Given the description of an element on the screen output the (x, y) to click on. 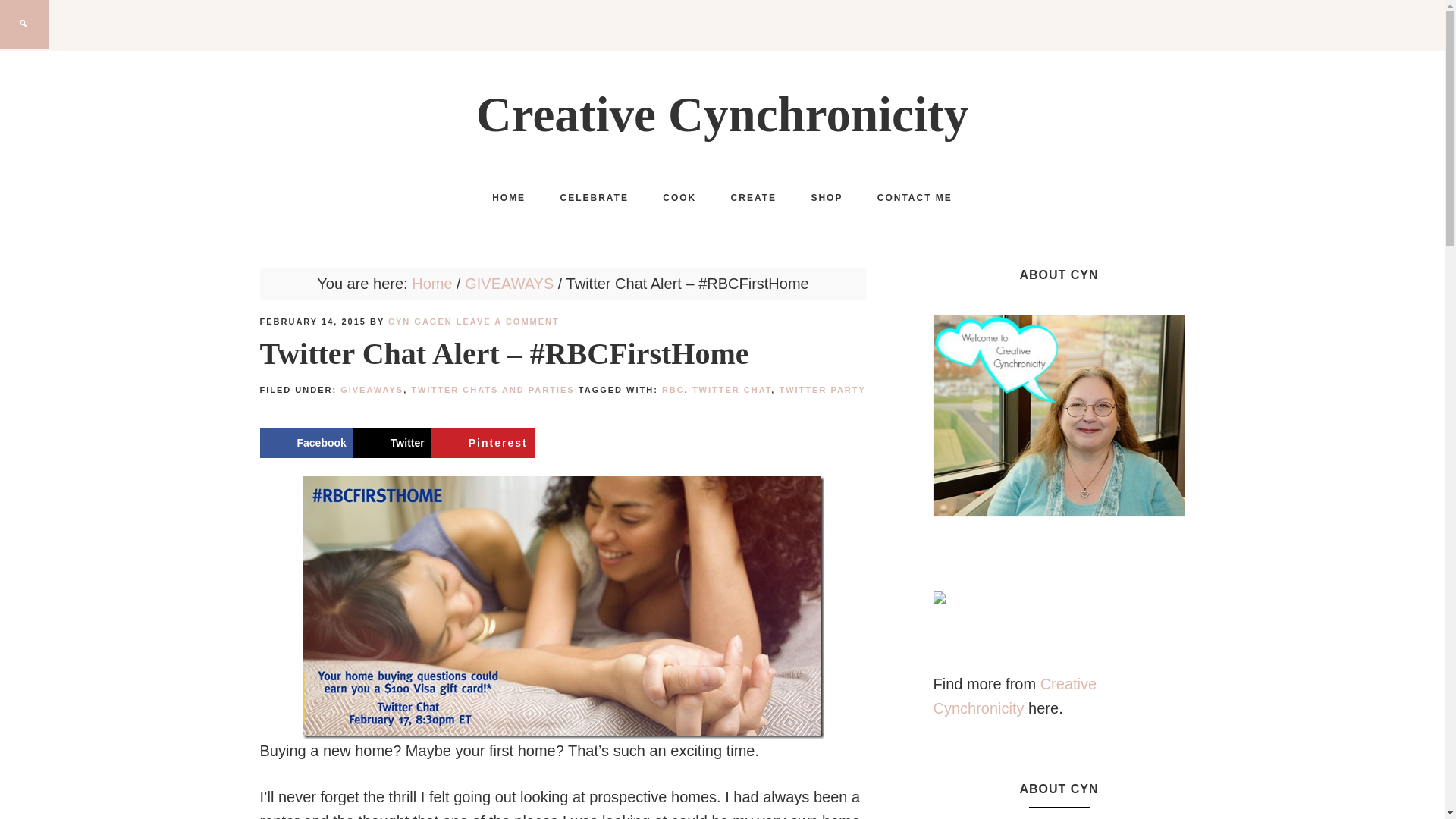
Save to Pinterest (482, 442)
Share on X (391, 442)
COOK (679, 197)
Share on Facebook (305, 442)
CREATE (754, 197)
CONTACT ME (914, 197)
CELEBRATE (593, 197)
HOME (508, 197)
CELEBRATE (593, 197)
COOK (679, 197)
